Given the description of an element on the screen output the (x, y) to click on. 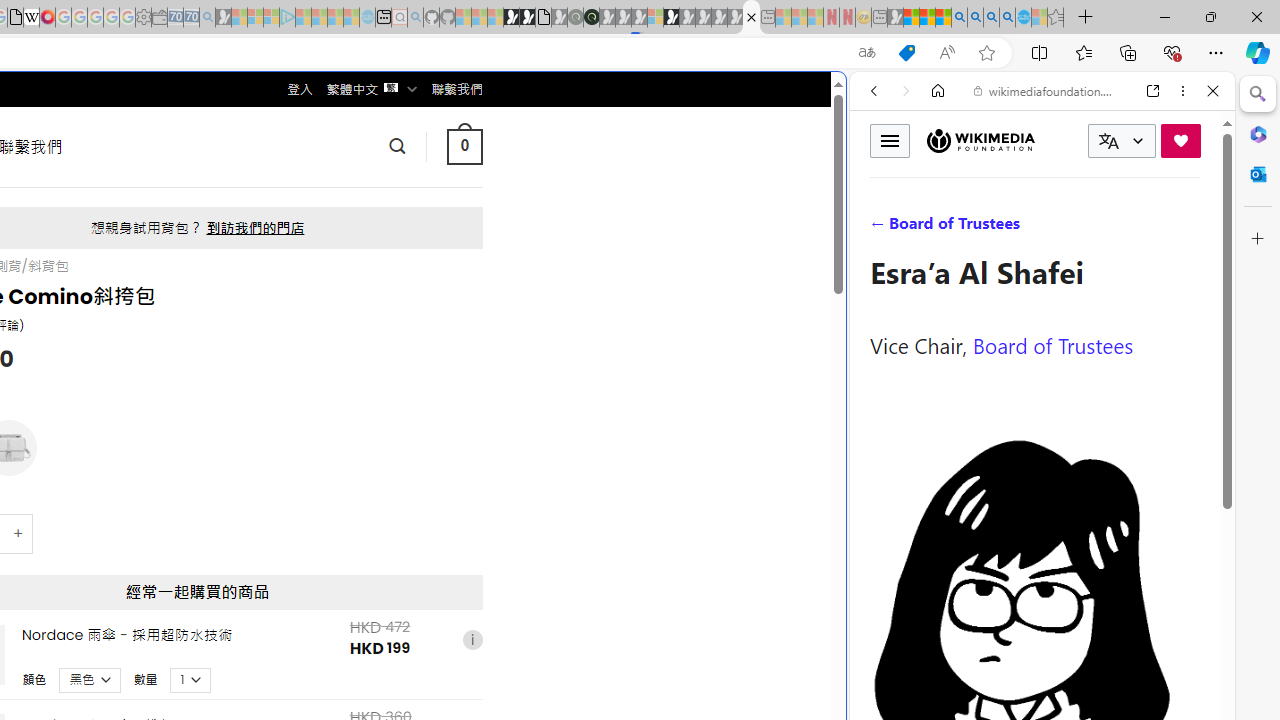
Global web icon (888, 669)
Forward (906, 91)
WEB   (882, 228)
Close split screen (844, 102)
Future Focus Report 2024 - Sleeping (575, 17)
github - Search - Sleeping (415, 17)
Tabs you've opened (276, 265)
